Given the description of an element on the screen output the (x, y) to click on. 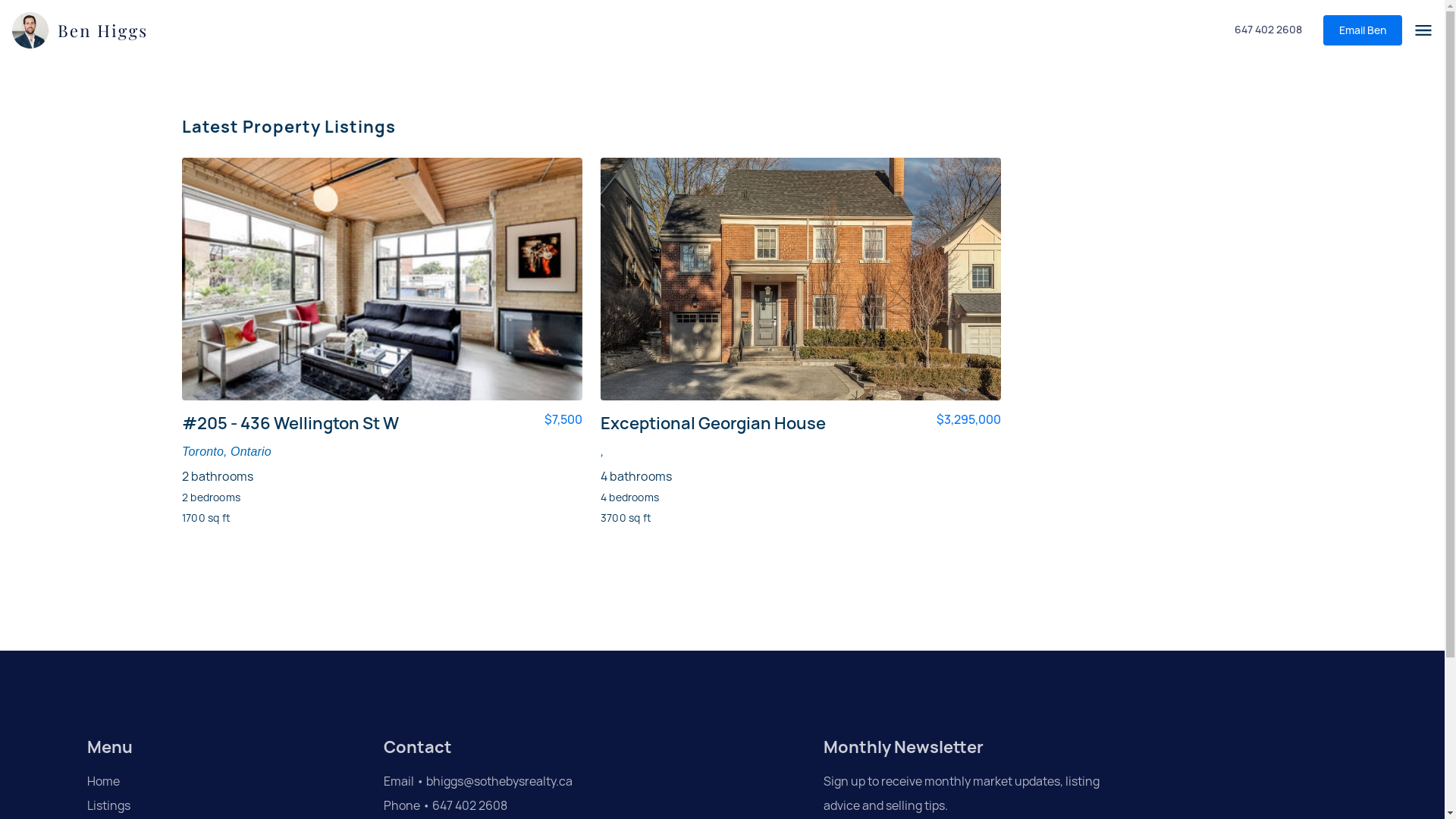
Home Element type: text (184, 781)
Email Ben Element type: text (1362, 30)
647 402 2608 Element type: text (1268, 30)
Listings Element type: text (184, 805)
